Given the description of an element on the screen output the (x, y) to click on. 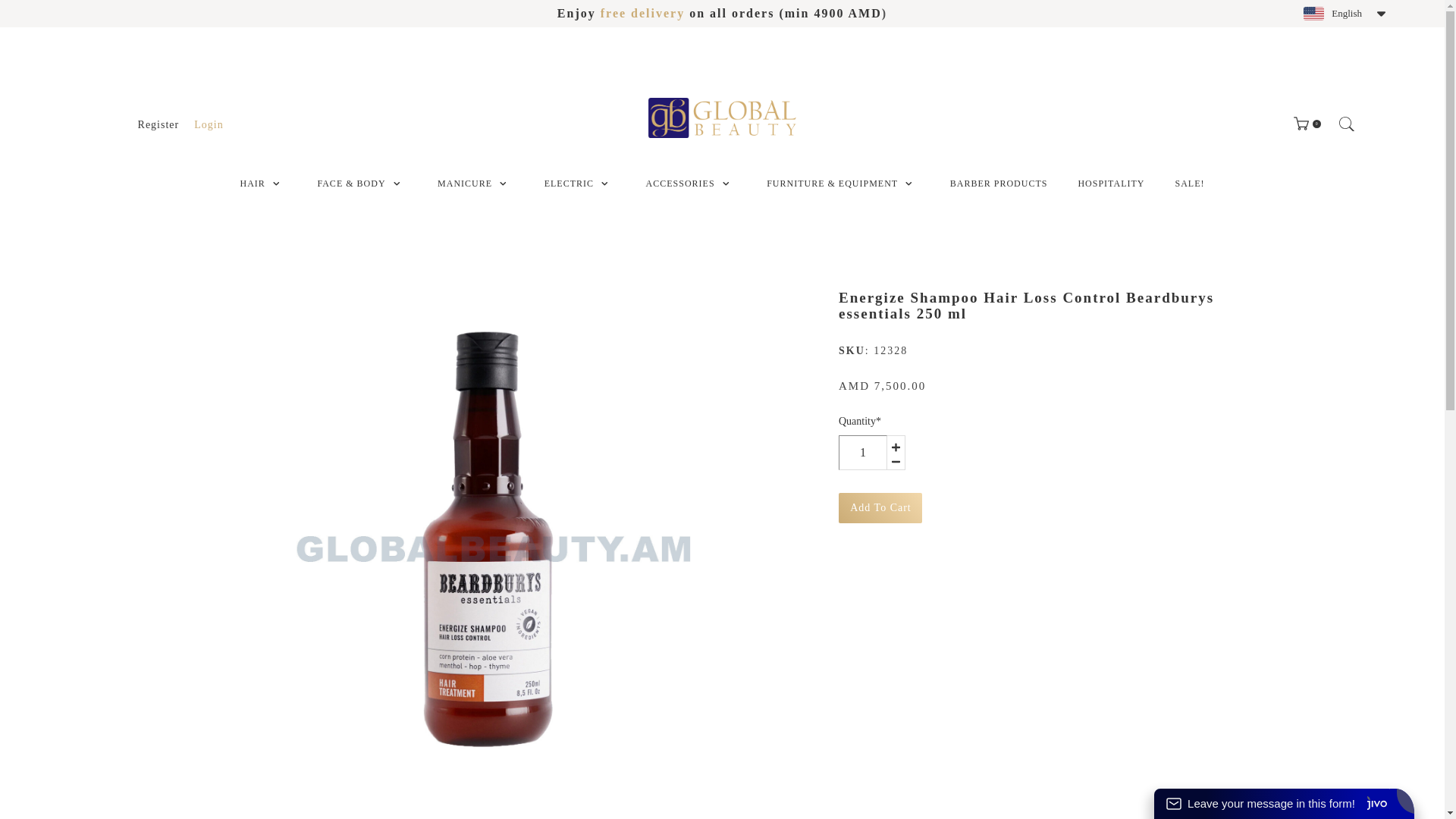
Login (207, 124)
MANICURE (465, 184)
HAIR (252, 184)
Register (158, 124)
1 (862, 452)
